Given the description of an element on the screen output the (x, y) to click on. 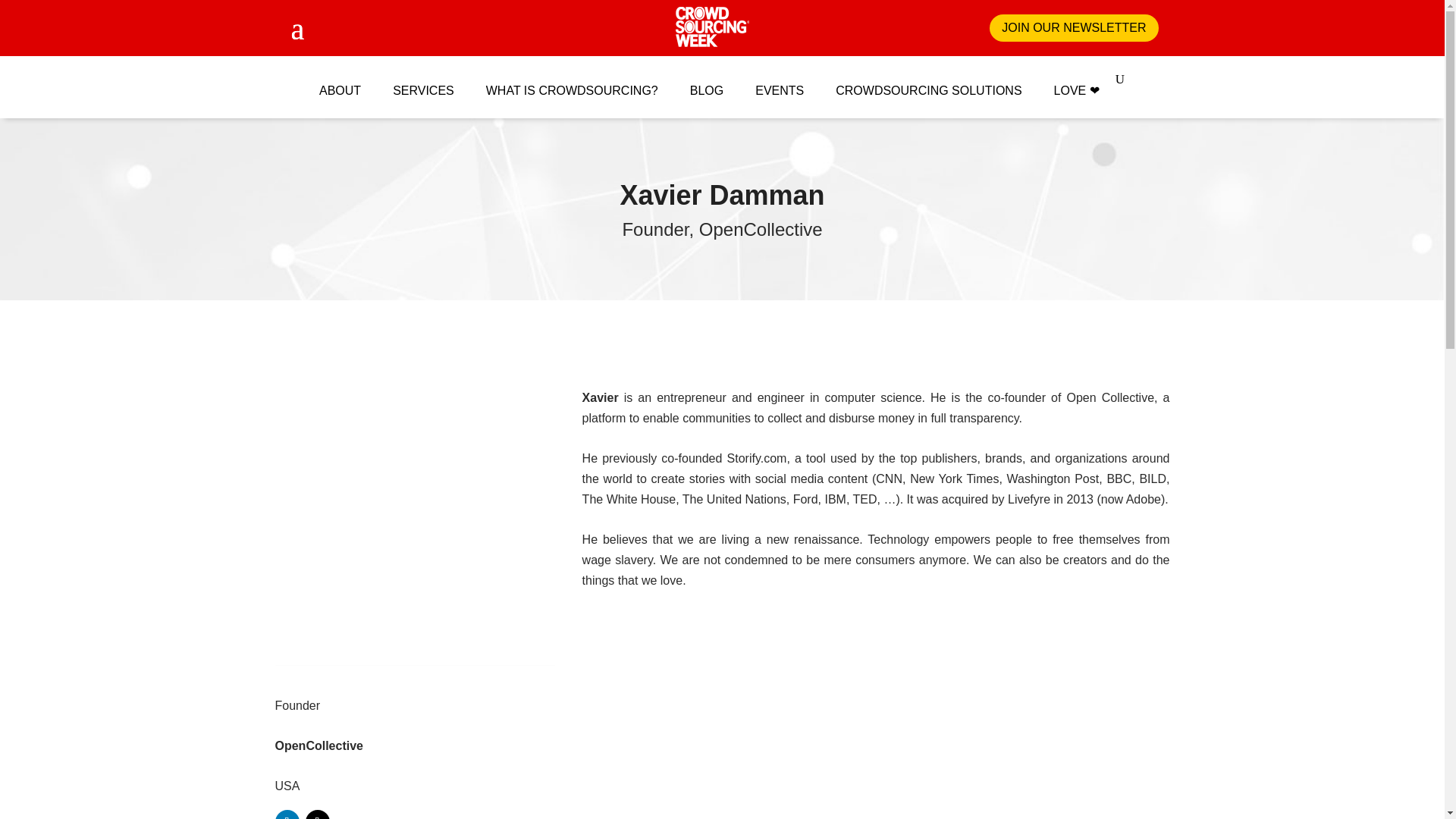
About (339, 82)
SERVICES (423, 82)
EVENTS (779, 82)
Crowdsourcing Week (712, 27)
JOIN OUR NEWSLETTER (1073, 28)
Customer Love (1076, 82)
WHAT IS CROWDSOURCING? (572, 82)
ABOUT (339, 82)
Crowdsourcing Solutions (928, 82)
Events (779, 82)
